Given the description of an element on the screen output the (x, y) to click on. 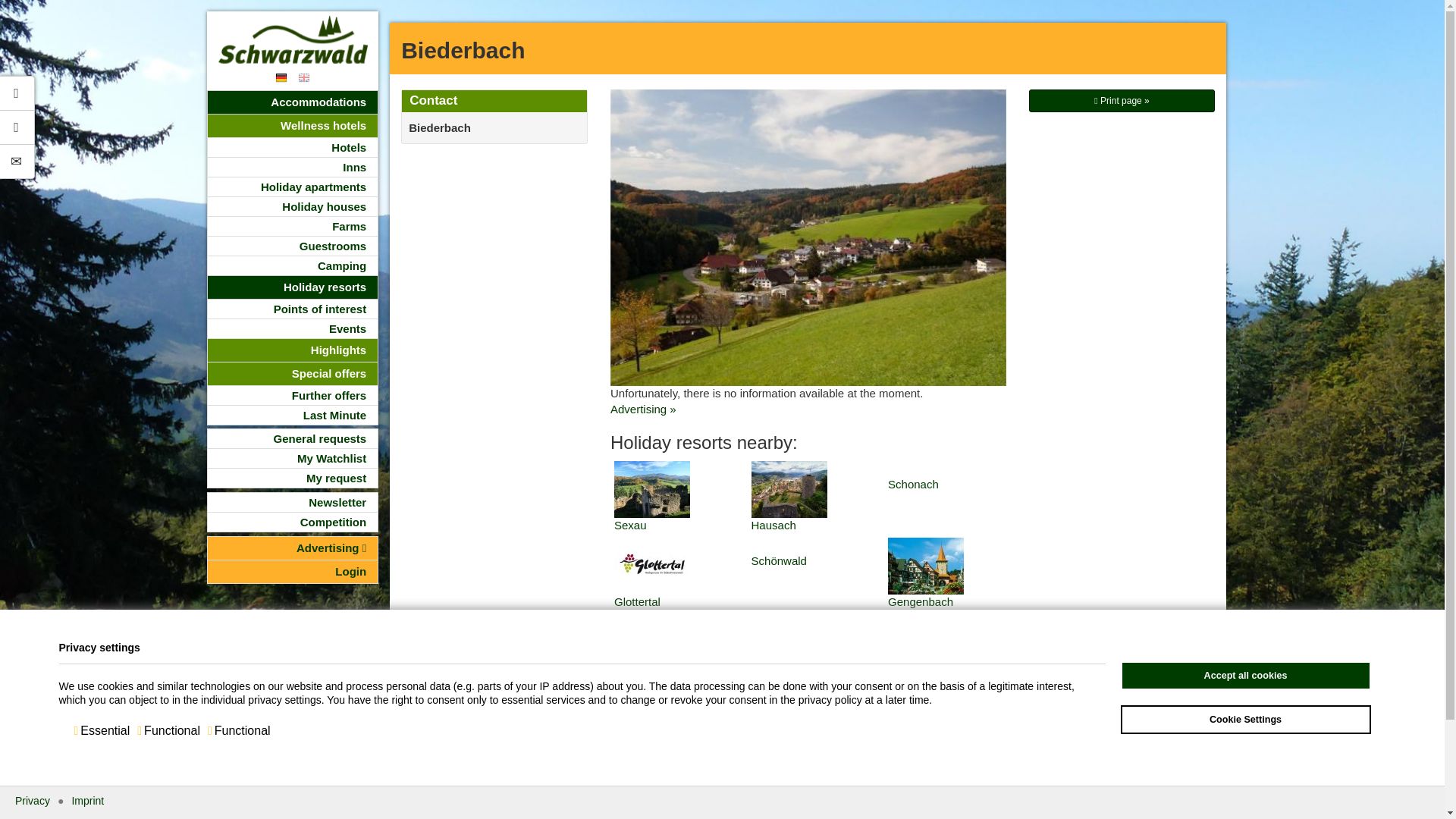
Events (292, 328)
Cookie Settings (1246, 719)
Holiday apartments (292, 186)
Holiday resorts (292, 287)
Wellness hotels (292, 125)
Last Minute (292, 414)
Points of interest (292, 308)
Holiday houses (292, 206)
Privacy (31, 800)
Highlights (292, 350)
My Watchlist (292, 457)
Accommodations (292, 102)
Hotels (292, 147)
Further offers (292, 394)
Inns (292, 167)
